Given the description of an element on the screen output the (x, y) to click on. 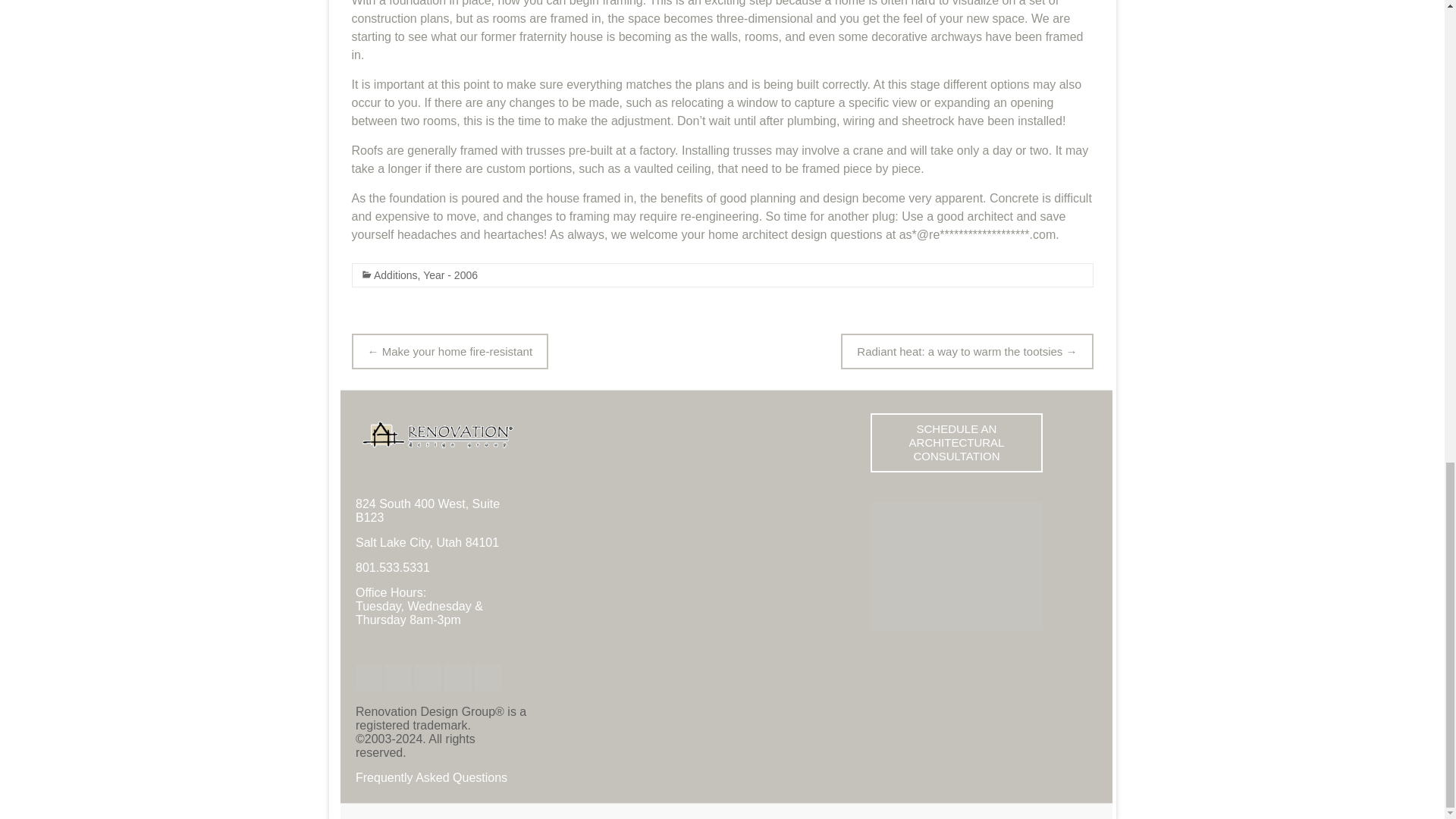
SCHEDULE AN ARCHITECTURAL CONSULTATION (956, 442)
renovation design group on linkedin (427, 671)
Year - 2006 (450, 275)
renovation design group on google plus (487, 671)
Frequently Asked Questions (430, 777)
renovation design group on pintrest (397, 671)
Additions (394, 275)
renovation design group on facebook (368, 671)
renovation design group on instagram (457, 671)
